Given the description of an element on the screen output the (x, y) to click on. 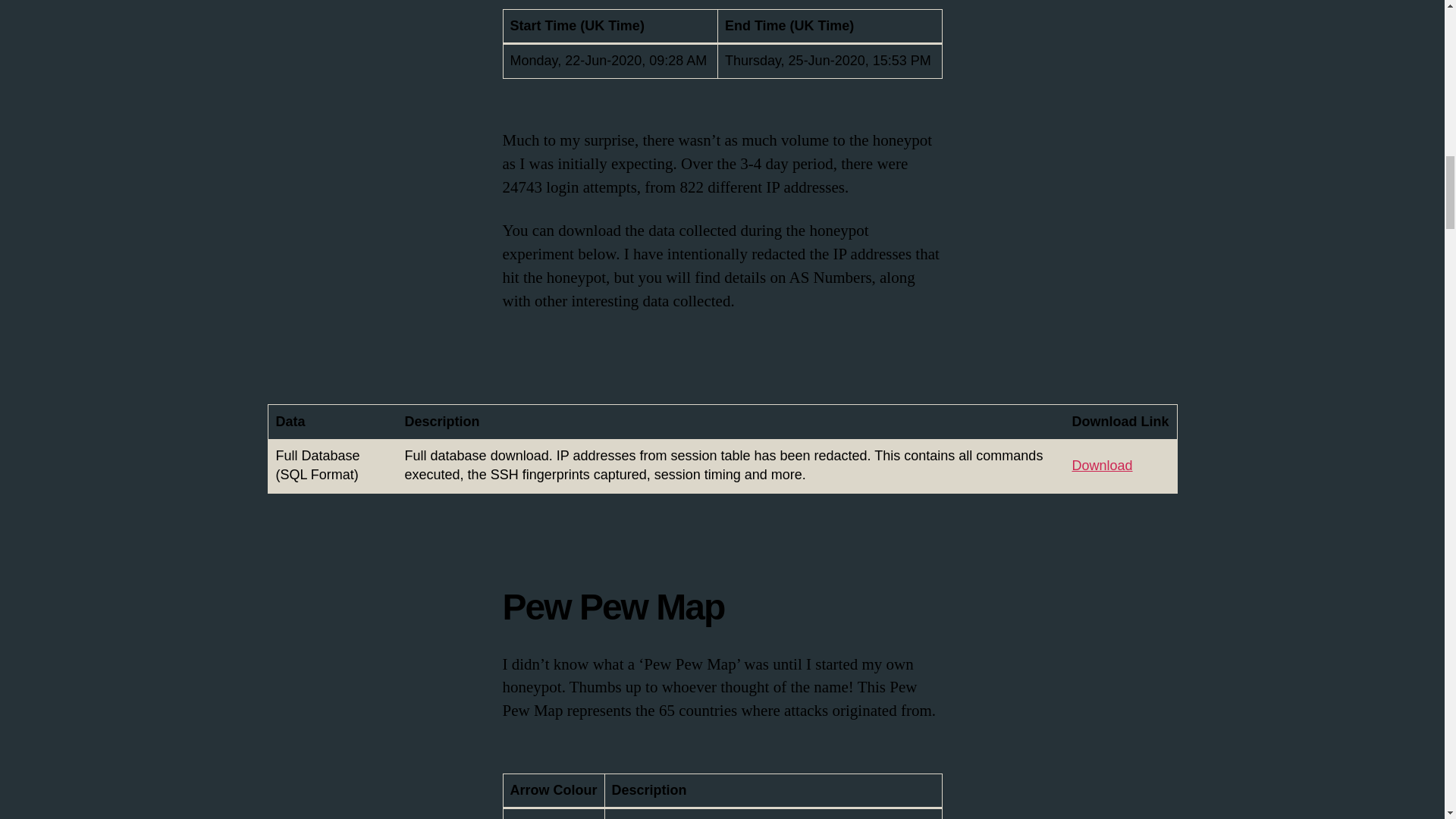
Download (1101, 465)
